Given the description of an element on the screen output the (x, y) to click on. 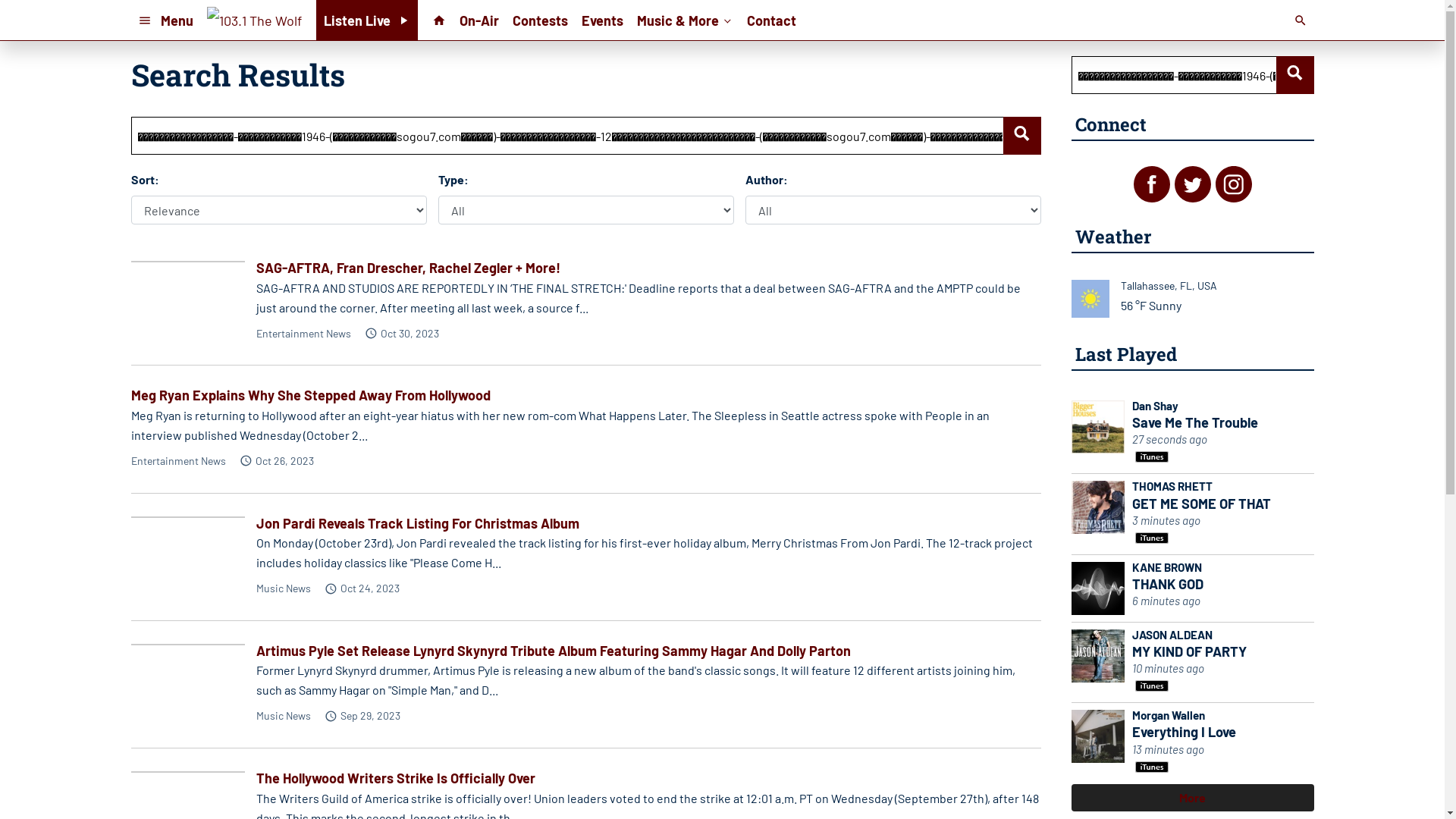
More Element type: text (1191, 797)
Contests Element type: text (539, 19)
Music & More Element type: text (685, 19)
Events Element type: text (602, 19)
Search Element type: text (1294, 75)
Listen Live Element type: text (366, 20)
Menu Element type: text (164, 19)
On-Air Element type: text (478, 19)
Search Element type: text (1021, 135)
Contact Element type: text (771, 19)
